Given the description of an element on the screen output the (x, y) to click on. 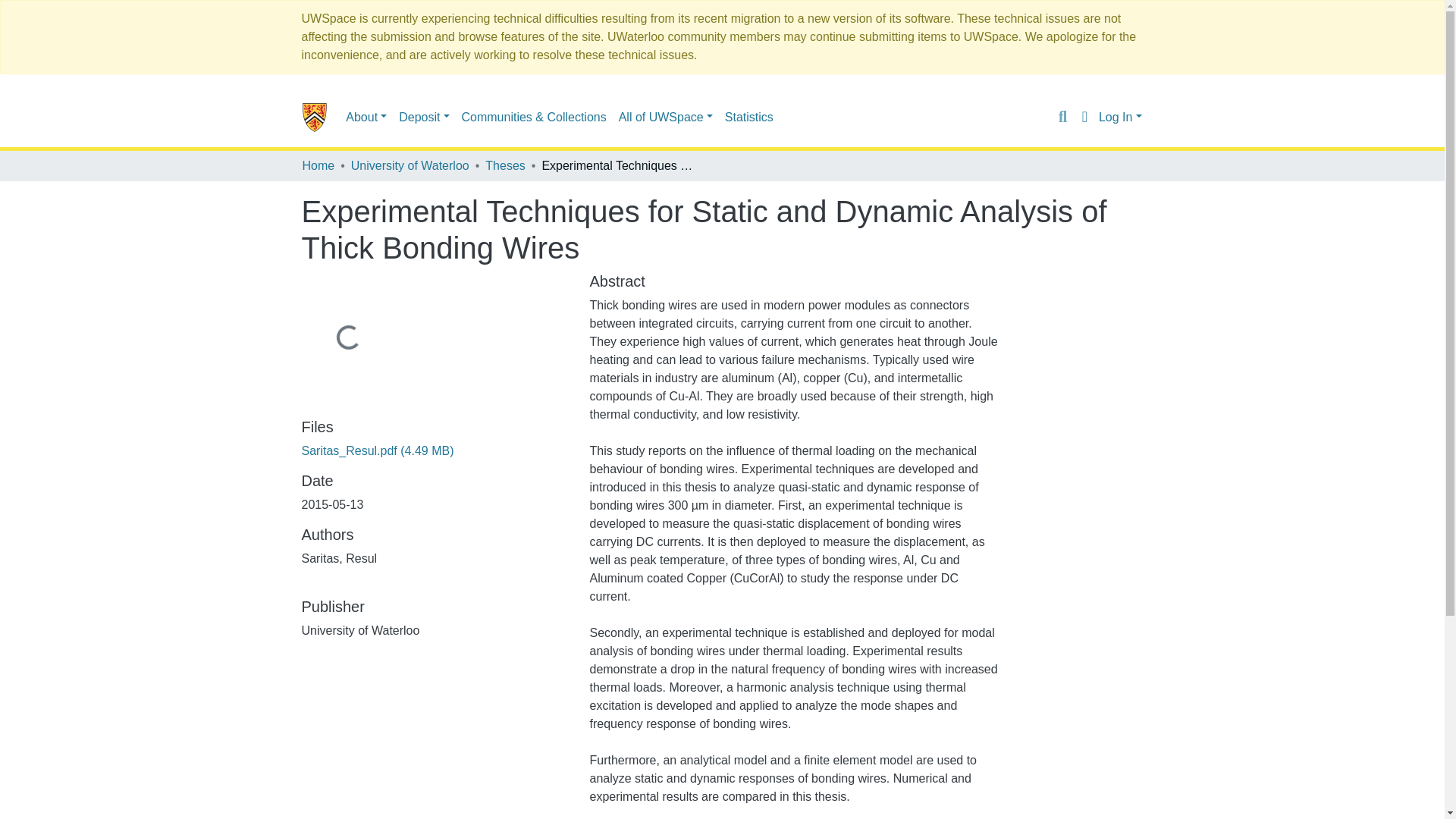
Statistics (748, 116)
University of Waterloo (409, 166)
All of UWSpace (665, 116)
Theses (504, 166)
Search (1061, 116)
Log In (1119, 116)
Statistics (748, 116)
Home (317, 166)
Deposit (423, 116)
About (366, 116)
